Given the description of an element on the screen output the (x, y) to click on. 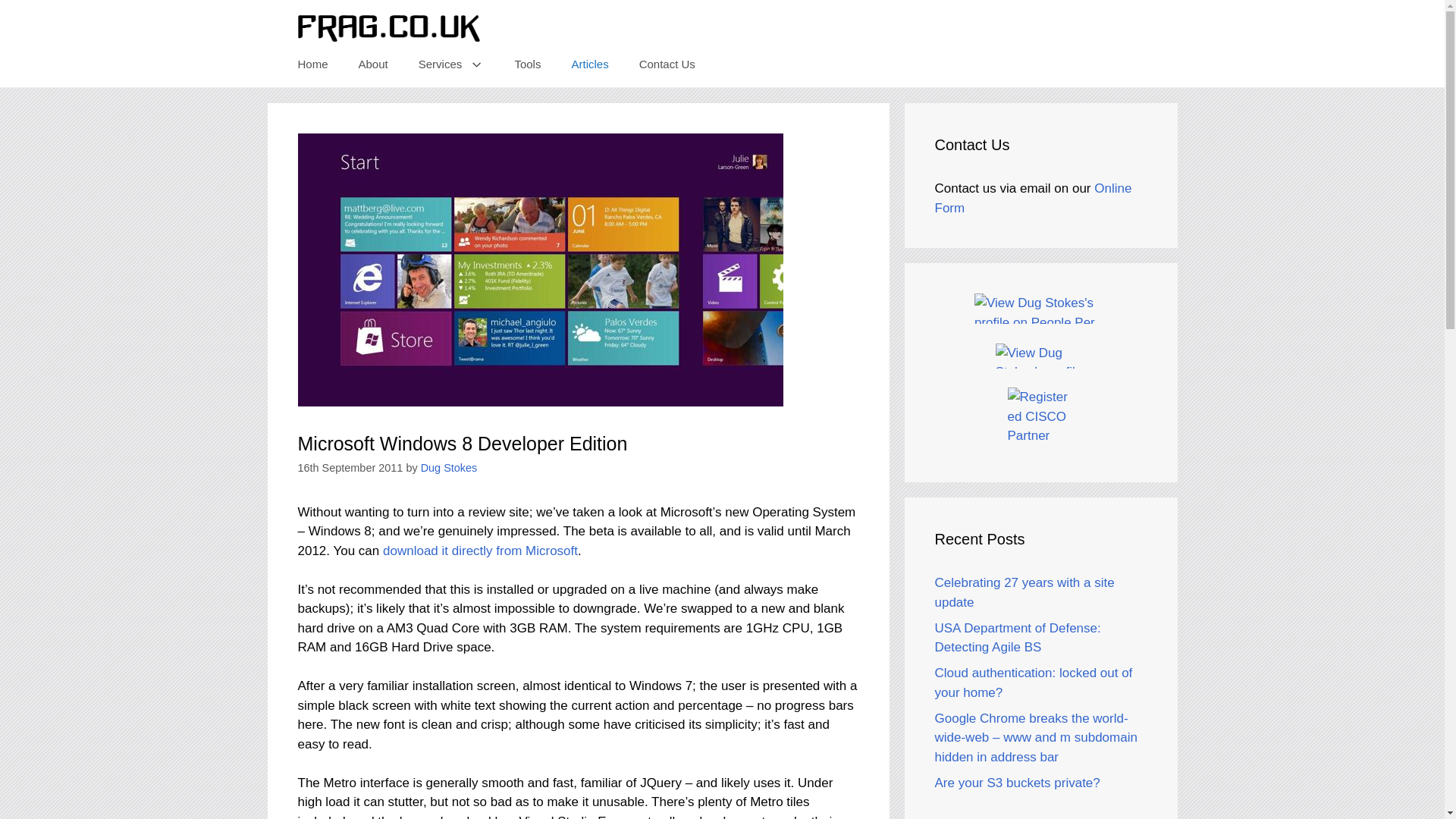
USA Department of Defense: Detecting Agile BS (1017, 637)
Dug Stokes (448, 467)
Online Form (1032, 197)
View all posts by Dug Stokes (448, 467)
Cloud authentication: locked out of your home? (1033, 682)
Home (312, 63)
Windows 8 Developer (480, 550)
Tools (527, 63)
Articles (589, 63)
download it directly from Microsoft (480, 550)
